Given the description of an element on the screen output the (x, y) to click on. 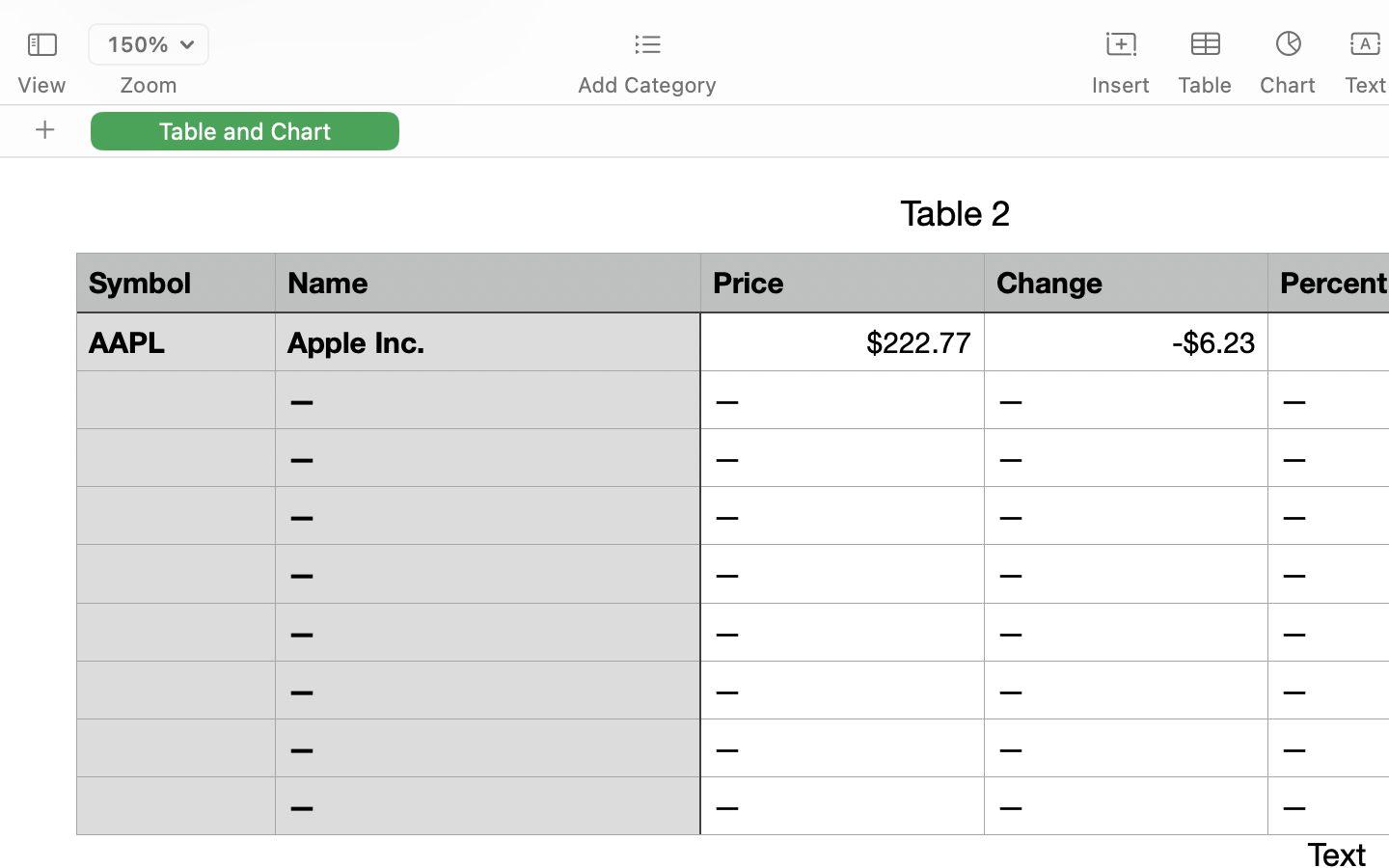
Add Category Element type: AXStaticText (646, 84)
Zoom Element type: AXStaticText (148, 84)
